Given the description of an element on the screen output the (x, y) to click on. 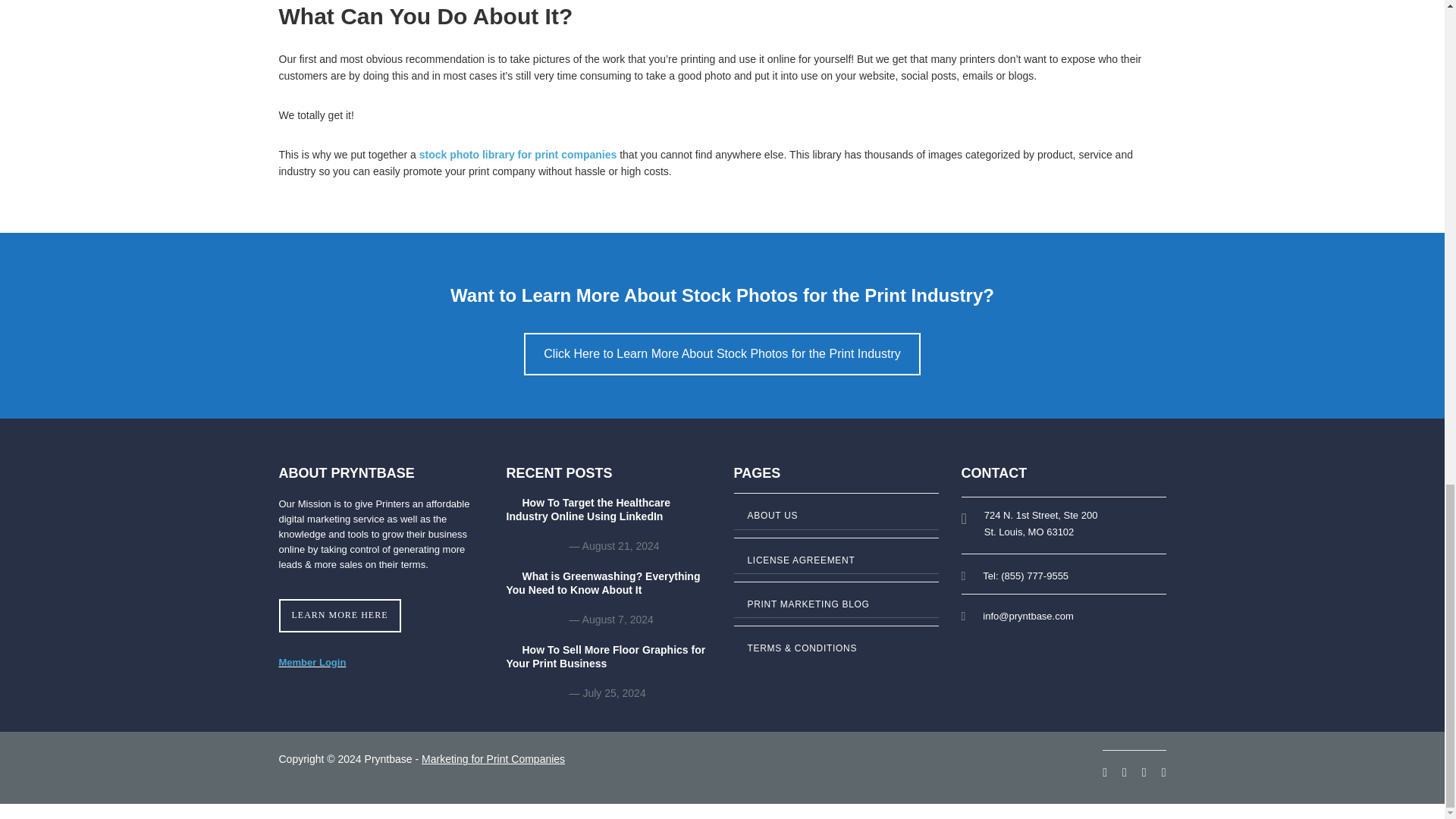
stock photo library for print companies (518, 154)
ABOUT US (836, 517)
PRINT MARKETING BLOG (836, 607)
LICENSE AGREEMENT (836, 563)
LEARN MORE HERE (340, 614)
Marketing for Print Companies (493, 758)
How To Target the Healthcare Industry Online Using LinkedIn (608, 516)
Printers an affordable digital marketing service (374, 510)
What is Greenwashing? Everything You Need to Know About It (608, 589)
